Given the description of an element on the screen output the (x, y) to click on. 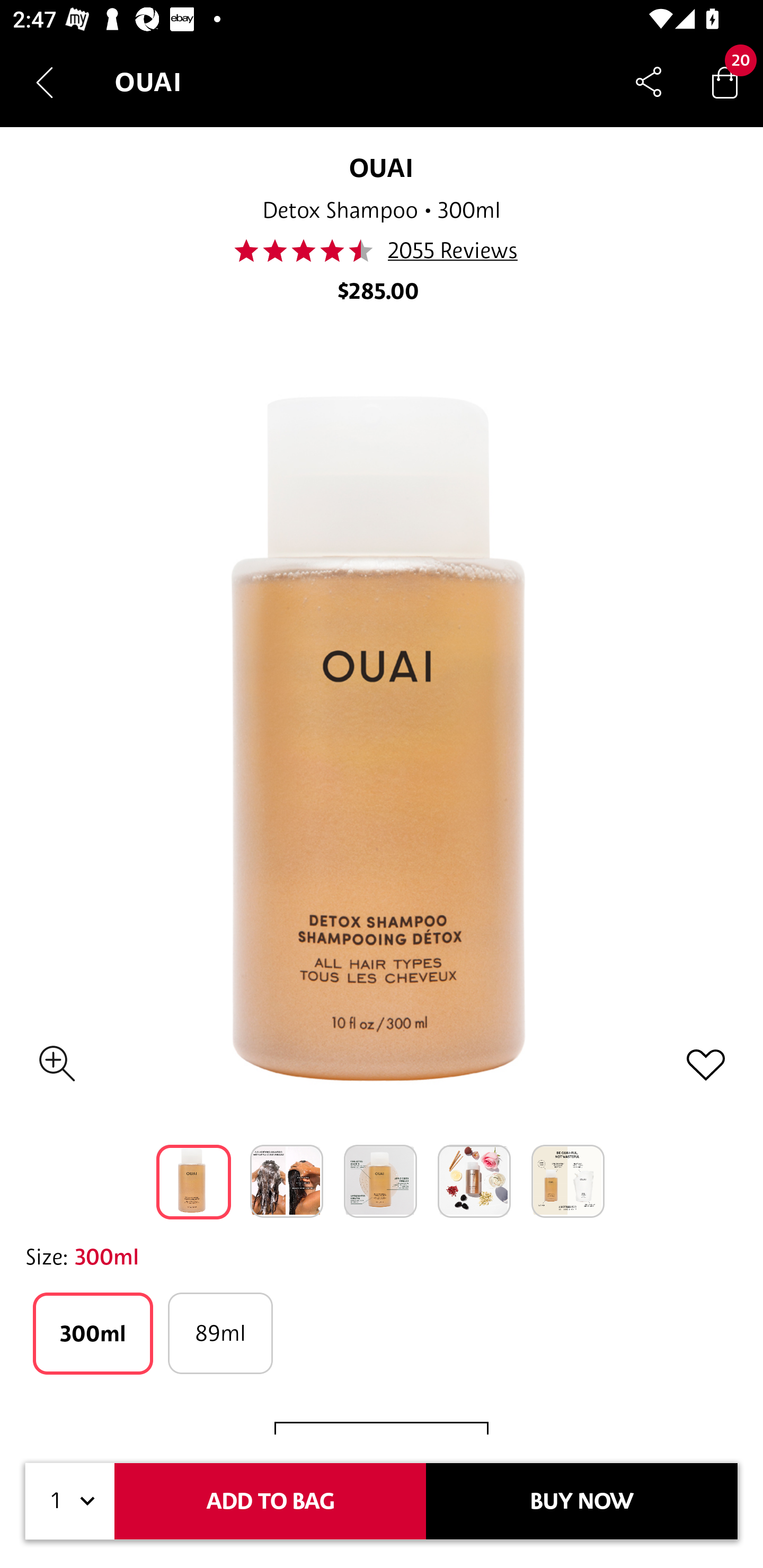
Navigate up (44, 82)
Share (648, 81)
Bag (724, 81)
OUAI (381, 167)
45.0 2055 Reviews (380, 250)
300ml (92, 1333)
89ml (220, 1332)
1 (69, 1500)
ADD TO BAG (269, 1500)
BUY NOW (581, 1500)
